Given the description of an element on the screen output the (x, y) to click on. 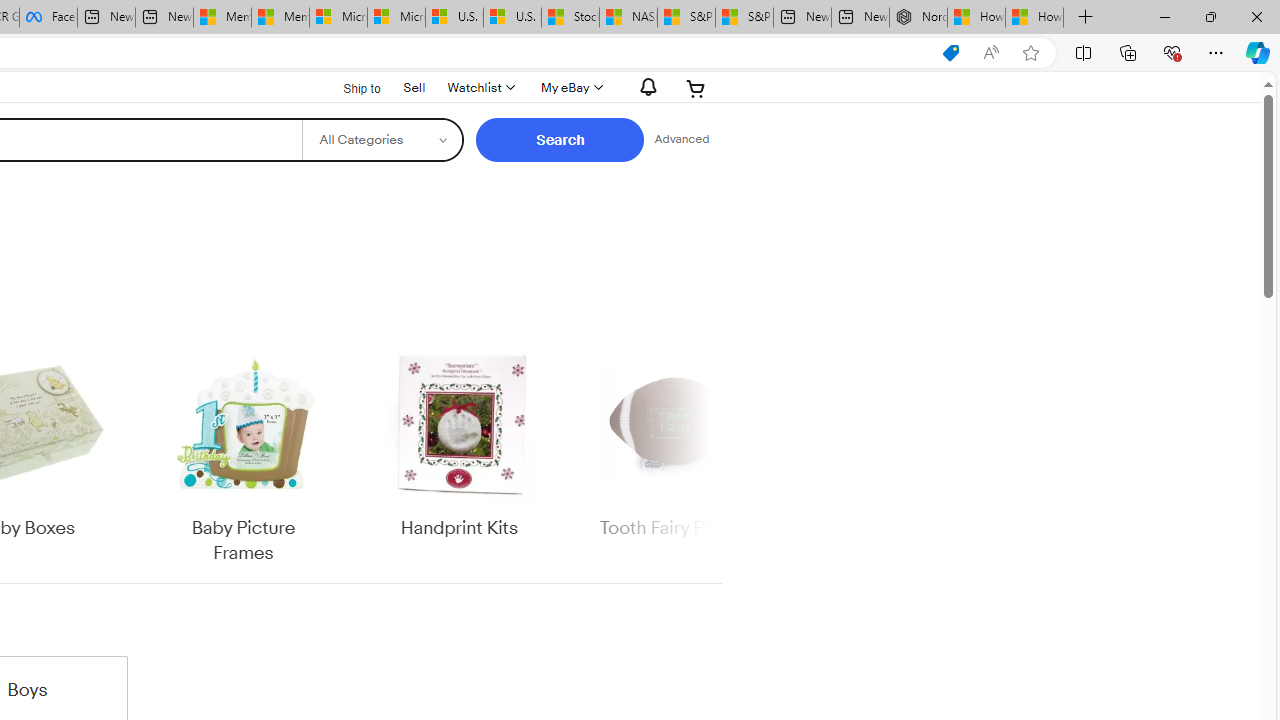
Baby Picture Frames (243, 455)
Select a category for search (382, 139)
Minimize (1164, 16)
Your shopping cart (696, 88)
Advanced Search (681, 139)
Ship to (349, 86)
AutomationID: gh-eb-Alerts (645, 87)
Baby Picture Frames (243, 455)
Settings and more (Alt+F) (1215, 52)
Restore (1210, 16)
Split screen (1083, 52)
Go to next slide (708, 455)
Copilot (Ctrl+Shift+.) (1258, 52)
Search (560, 140)
